Given the description of an element on the screen output the (x, y) to click on. 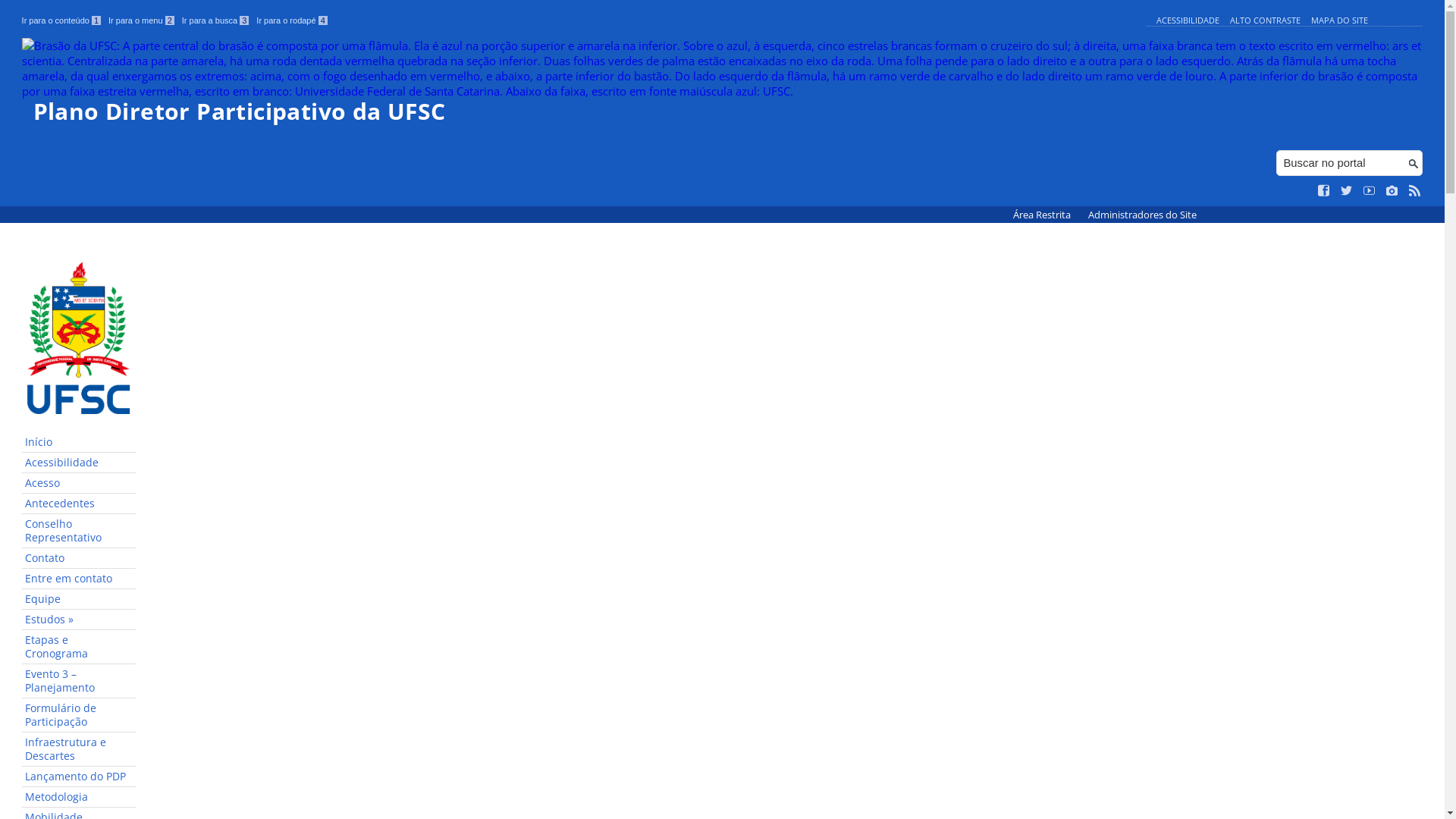
Acesso Element type: text (78, 483)
Antecedentes Element type: text (78, 503)
Conselho Representativo Element type: text (78, 531)
Ir para a busca 3 Element type: text (215, 20)
Siga no Twitter Element type: hover (1346, 191)
Etapas e Cronograma Element type: text (78, 647)
MAPA DO SITE Element type: text (1339, 19)
ALTO CONTRASTE Element type: text (1265, 19)
Metodologia Element type: text (78, 797)
Curta no Facebook Element type: hover (1323, 191)
Infraestrutura e Descartes Element type: text (78, 749)
Ir para o menu 2 Element type: text (141, 20)
ACESSIBILIDADE Element type: text (1187, 19)
Entre em contato Element type: text (78, 578)
Contato Element type: text (78, 558)
Acessibilidade Element type: text (78, 462)
Equipe Element type: text (78, 599)
Veja no Instagram Element type: hover (1392, 191)
Plano Diretor Participativo da UFSC Element type: text (722, 80)
Administradores do Site Element type: text (1141, 214)
